Given the description of an element on the screen output the (x, y) to click on. 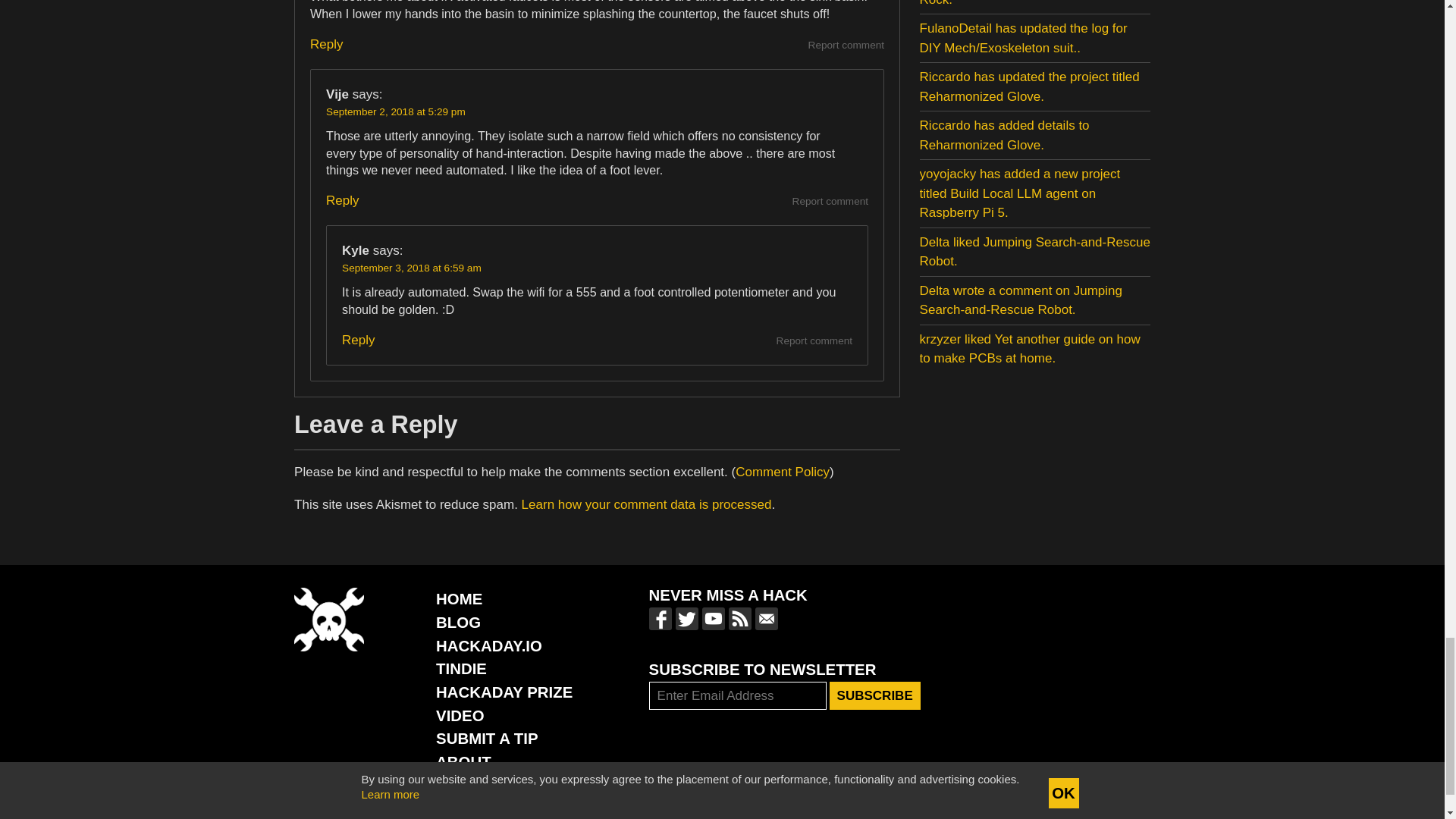
Subscribe (874, 695)
